Given the description of an element on the screen output the (x, y) to click on. 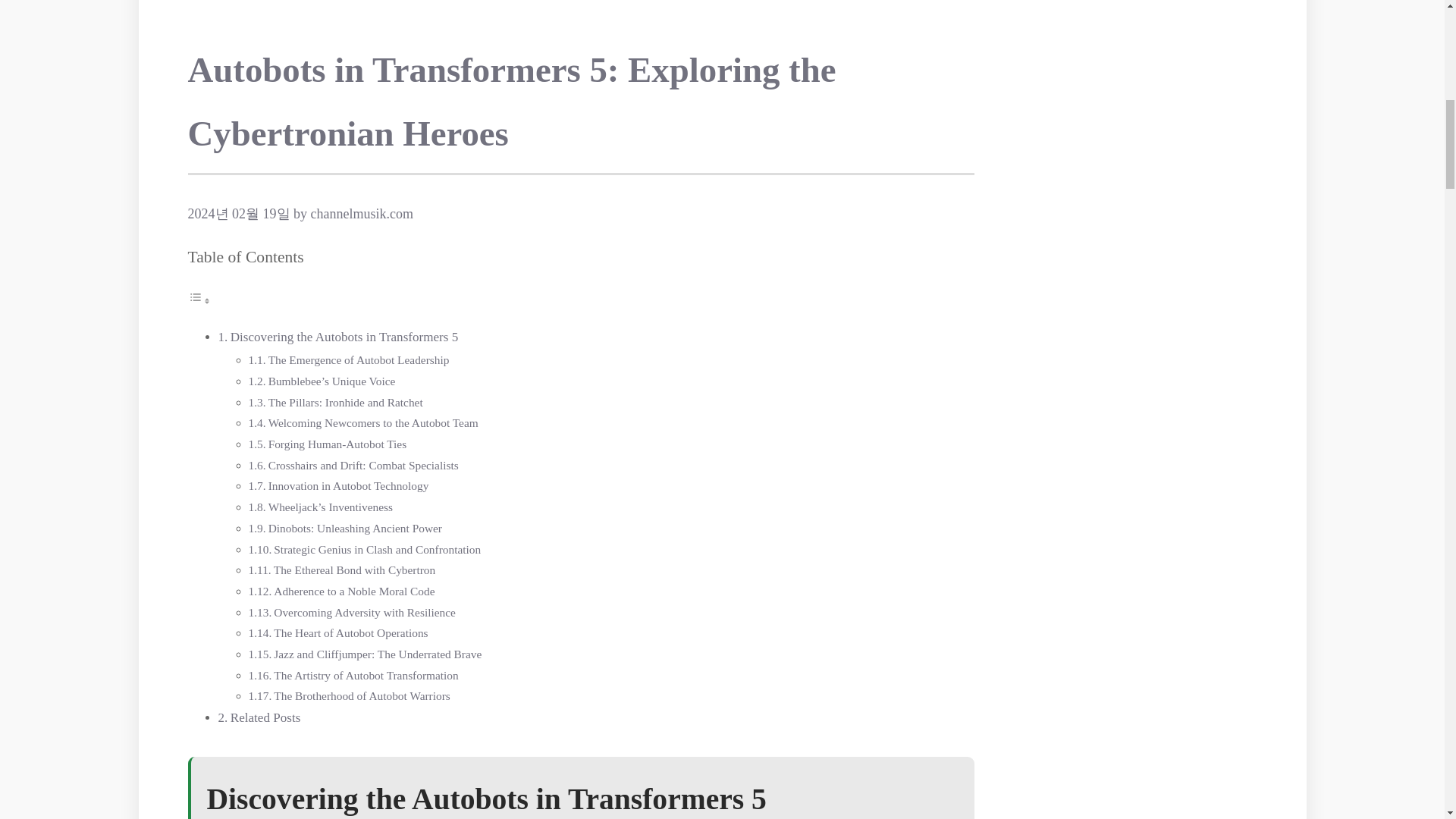
Related Posts (265, 717)
The Pillars: Ironhide and Ratchet (345, 401)
The Emergence of Autobot Leadership (358, 359)
The Heart of Autobot Operations (350, 632)
Overcoming Adversity with Resilience (364, 612)
Innovation in Autobot Technology (348, 485)
Crosshairs and Drift: Combat Specialists (362, 464)
Welcoming Newcomers to the Autobot Team (373, 422)
Forging Human-Autobot Ties (337, 443)
The Brotherhood of Autobot Warriors (361, 695)
Adherence to a Noble Moral Code (353, 590)
channelmusik.com (362, 213)
Discovering the Autobots in Transformers 5 (344, 336)
Discovering the Autobots in Transformers 5 (344, 336)
Dinobots: Unleashing Ancient Power (354, 527)
